Given the description of an element on the screen output the (x, y) to click on. 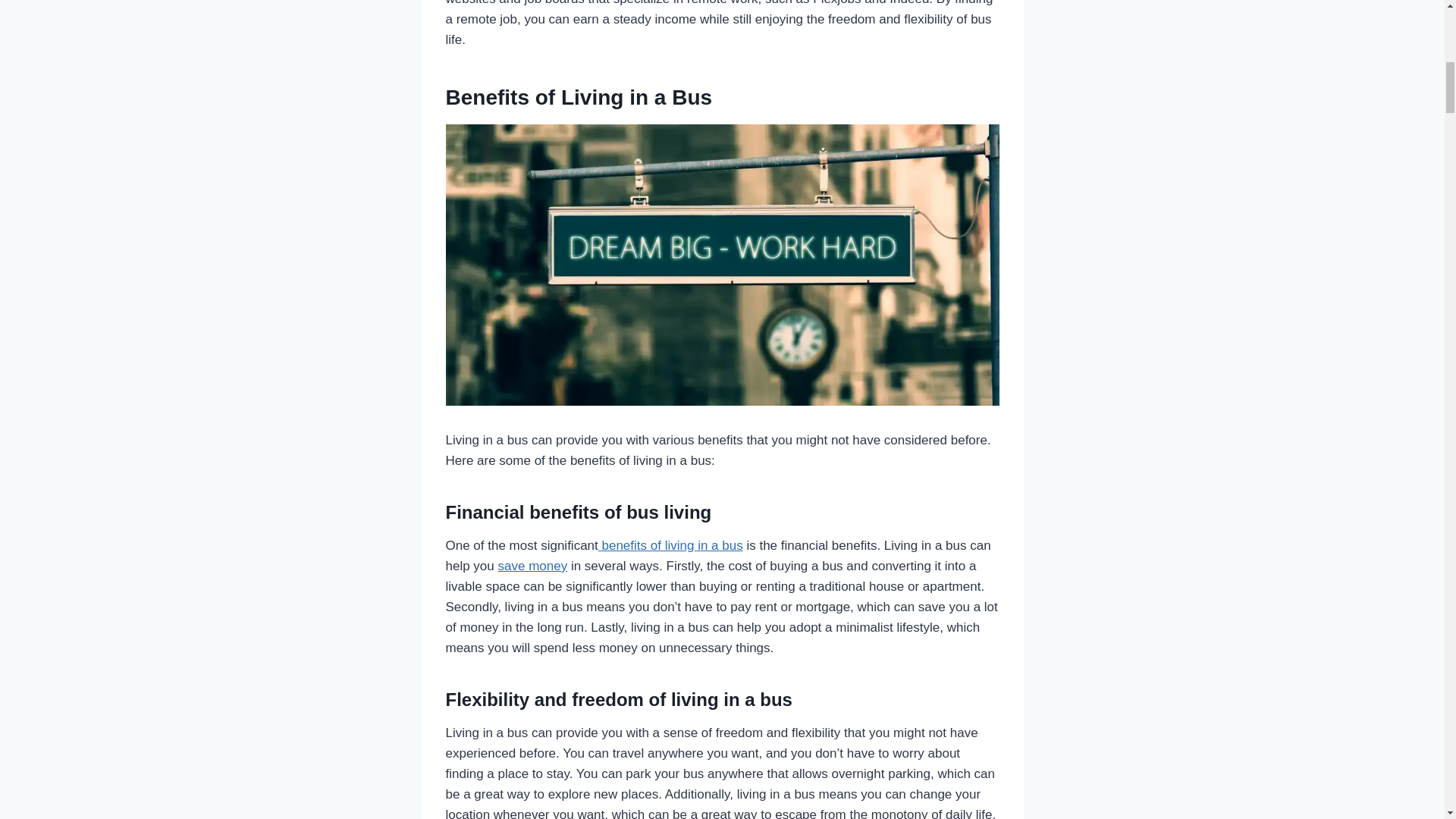
save money (532, 565)
save money (532, 565)
benefits of living in a bus (670, 545)
